Given the description of an element on the screen output the (x, y) to click on. 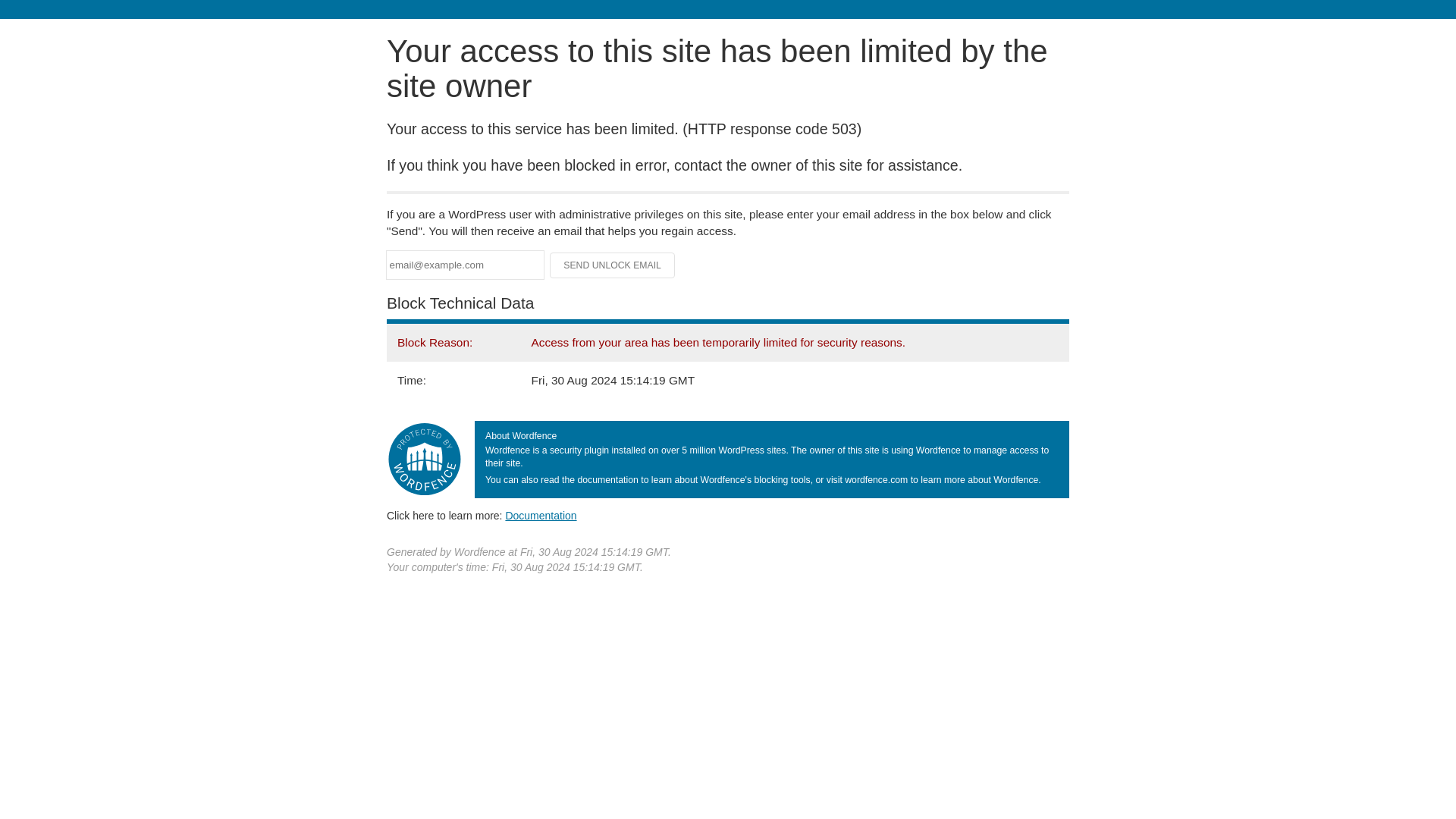
Send Unlock Email (612, 265)
Send Unlock Email (612, 265)
Documentation (540, 515)
